Given the description of an element on the screen output the (x, y) to click on. 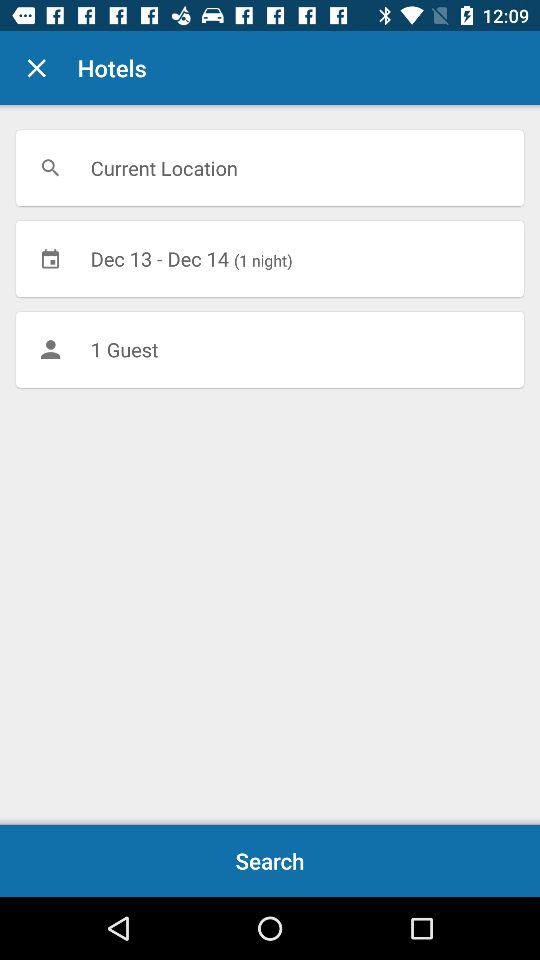
open icon at the center (269, 349)
